Given the description of an element on the screen output the (x, y) to click on. 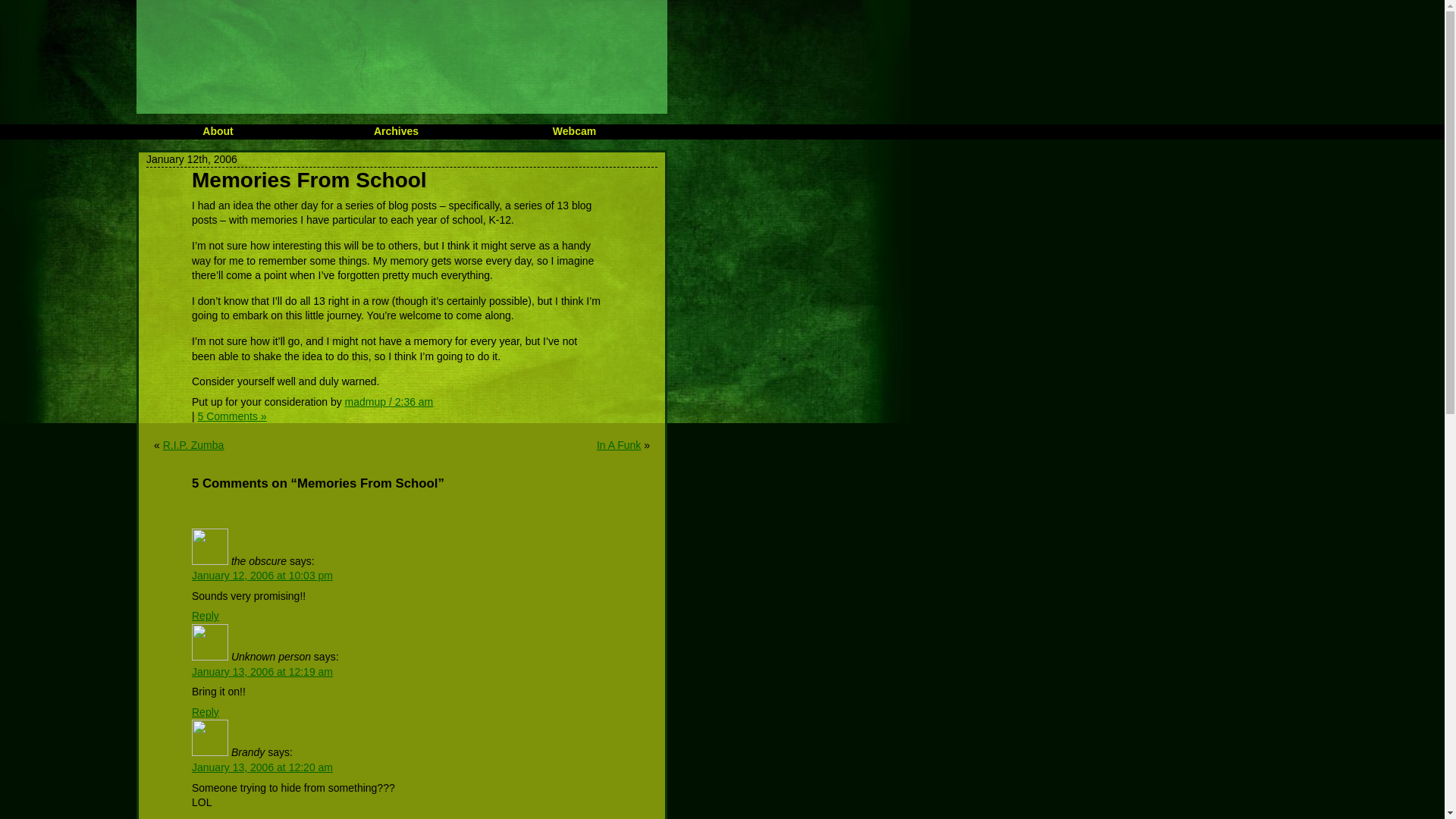
January 13, 2006 at 12:19 am (262, 671)
In A Funk (618, 444)
Archives (396, 131)
Reply (205, 711)
R.I.P. Zumba (193, 444)
Reply (205, 615)
About (217, 131)
Webcam (574, 131)
January 12, 2006 at 10:03 pm (262, 575)
January 13, 2006 at 12:20 am (262, 767)
